Given the description of an element on the screen output the (x, y) to click on. 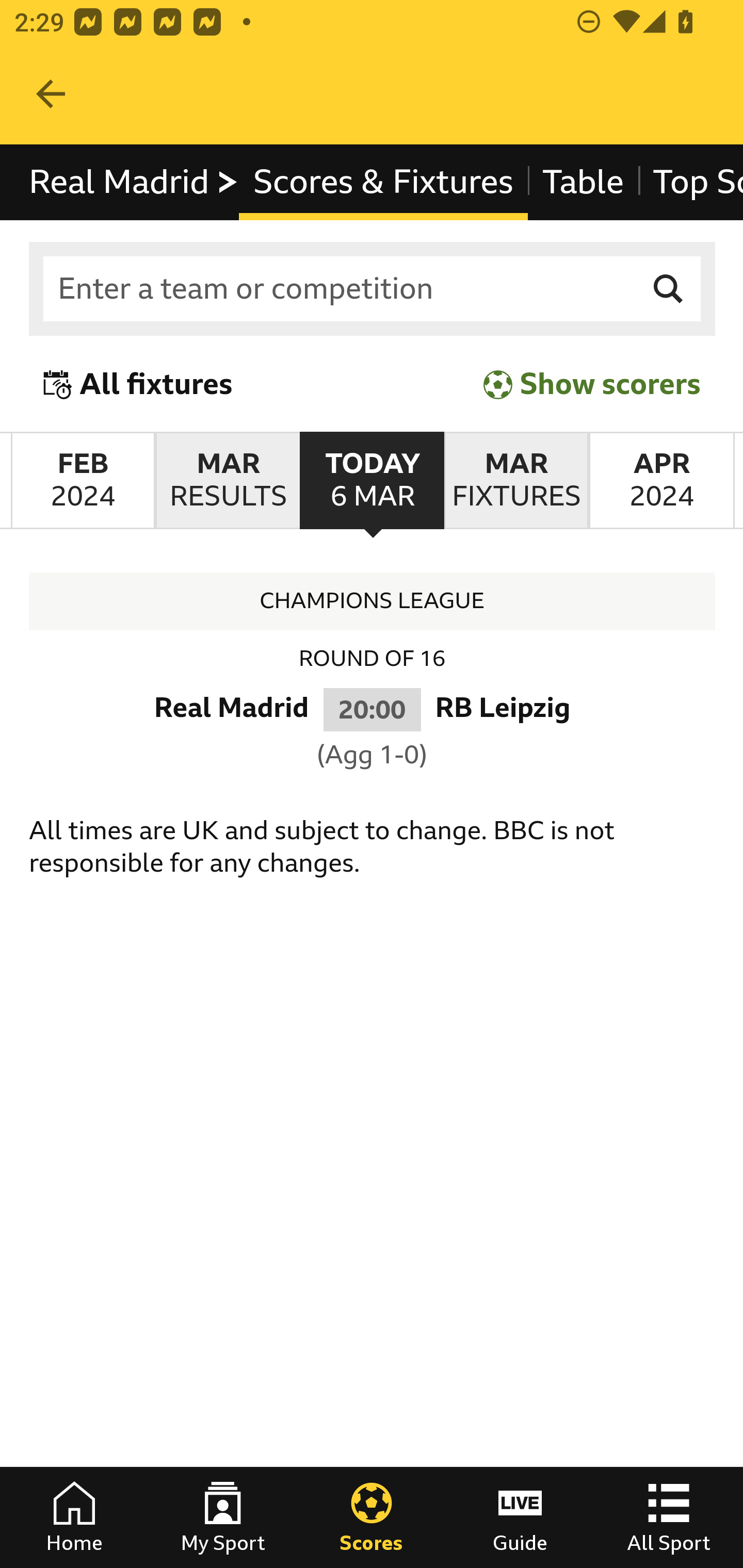
Navigate up (50, 93)
Real Madrid  (133, 181)
Scores & Fixtures (383, 181)
Table (582, 181)
Top Scorers (690, 181)
Search (669, 289)
All fixtures (137, 383)
Show scorers (591, 383)
February2024 February 2024 (83, 480)
MarchRESULTS March RESULTS (227, 480)
MarchFIXTURES March FIXTURES (516, 480)
April2024 April 2024 (661, 480)
Home (74, 1517)
My Sport (222, 1517)
Guide (519, 1517)
All Sport (668, 1517)
